Given the description of an element on the screen output the (x, y) to click on. 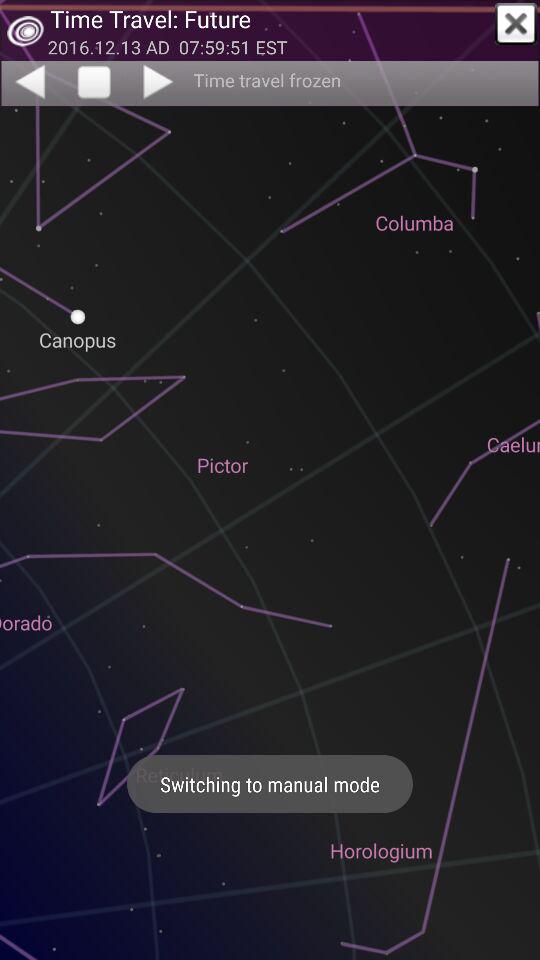
stop option (94, 83)
